Given the description of an element on the screen output the (x, y) to click on. 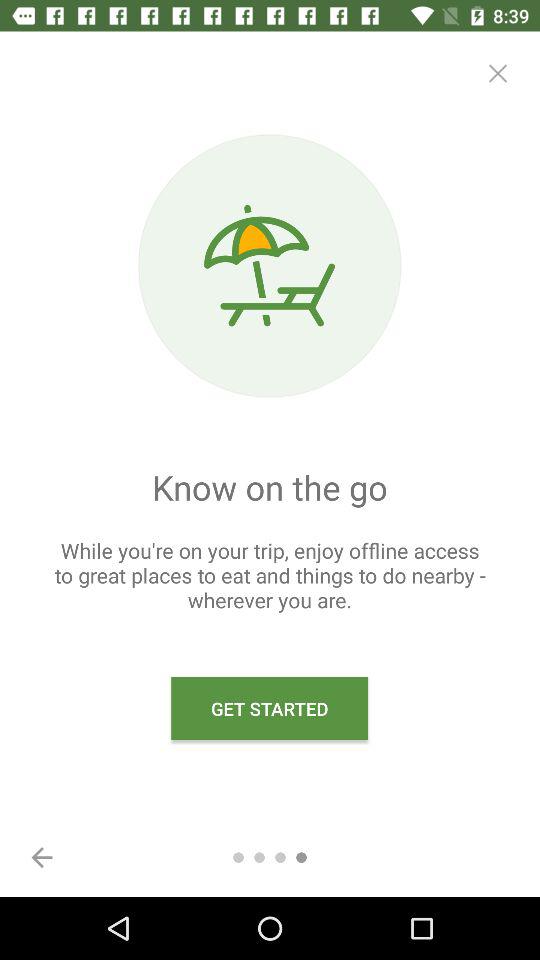
press the icon at the top right corner (497, 73)
